Given the description of an element on the screen output the (x, y) to click on. 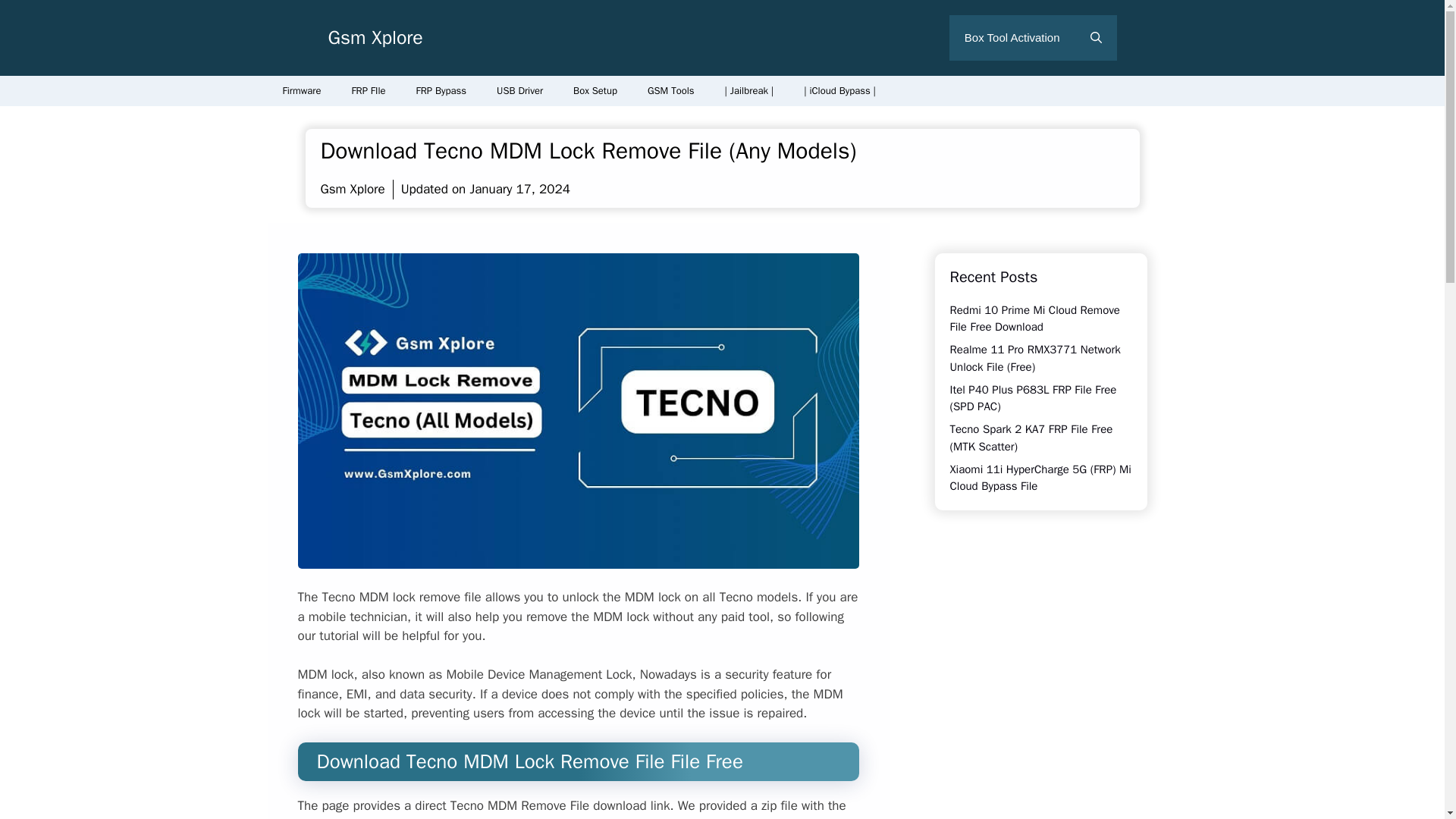
Firmware (301, 91)
Box Setup (594, 91)
Gsm Xplore (352, 188)
Gsm Xplore (374, 37)
USB Driver (519, 91)
FRP Bypass (441, 91)
Redmi 10 Prime Mi Cloud Remove File Free Download (1034, 318)
Box Tool Activation (1012, 37)
GSM Tools (670, 91)
